Given the description of an element on the screen output the (x, y) to click on. 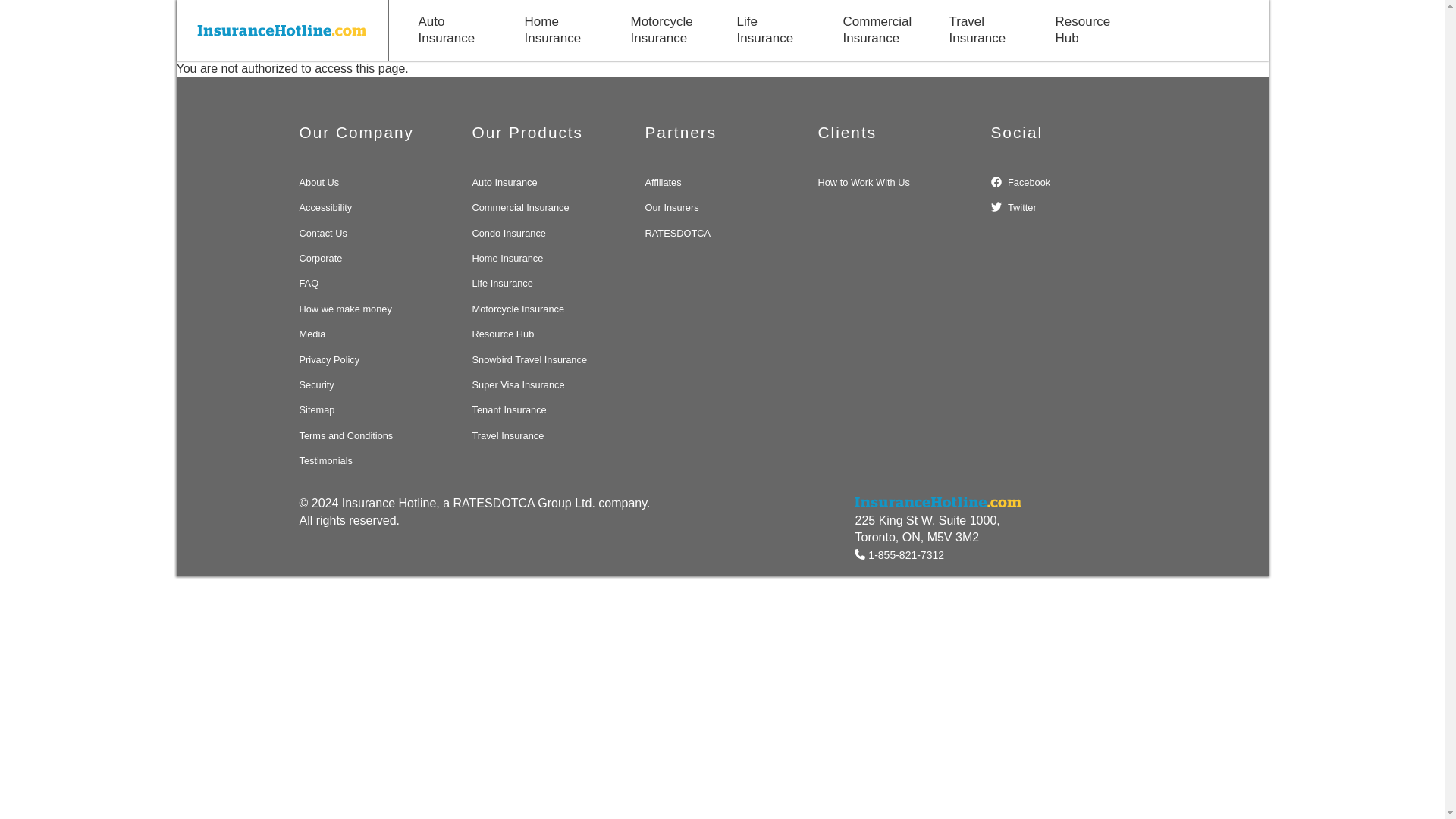
About Us (318, 182)
Travel Insurance (979, 30)
Terms and Conditions (345, 435)
Commercial Insurance (877, 30)
FAQ (308, 283)
Motorcycle Insurance (661, 30)
Accessibility (325, 206)
Auto Insurance (449, 30)
Life Insurance (767, 30)
Privacy Policy (328, 359)
Travel Insurance (979, 30)
Auto Insurance (449, 30)
Sitemap (316, 409)
Commercial Insurance (877, 30)
Media (311, 333)
